Given the description of an element on the screen output the (x, y) to click on. 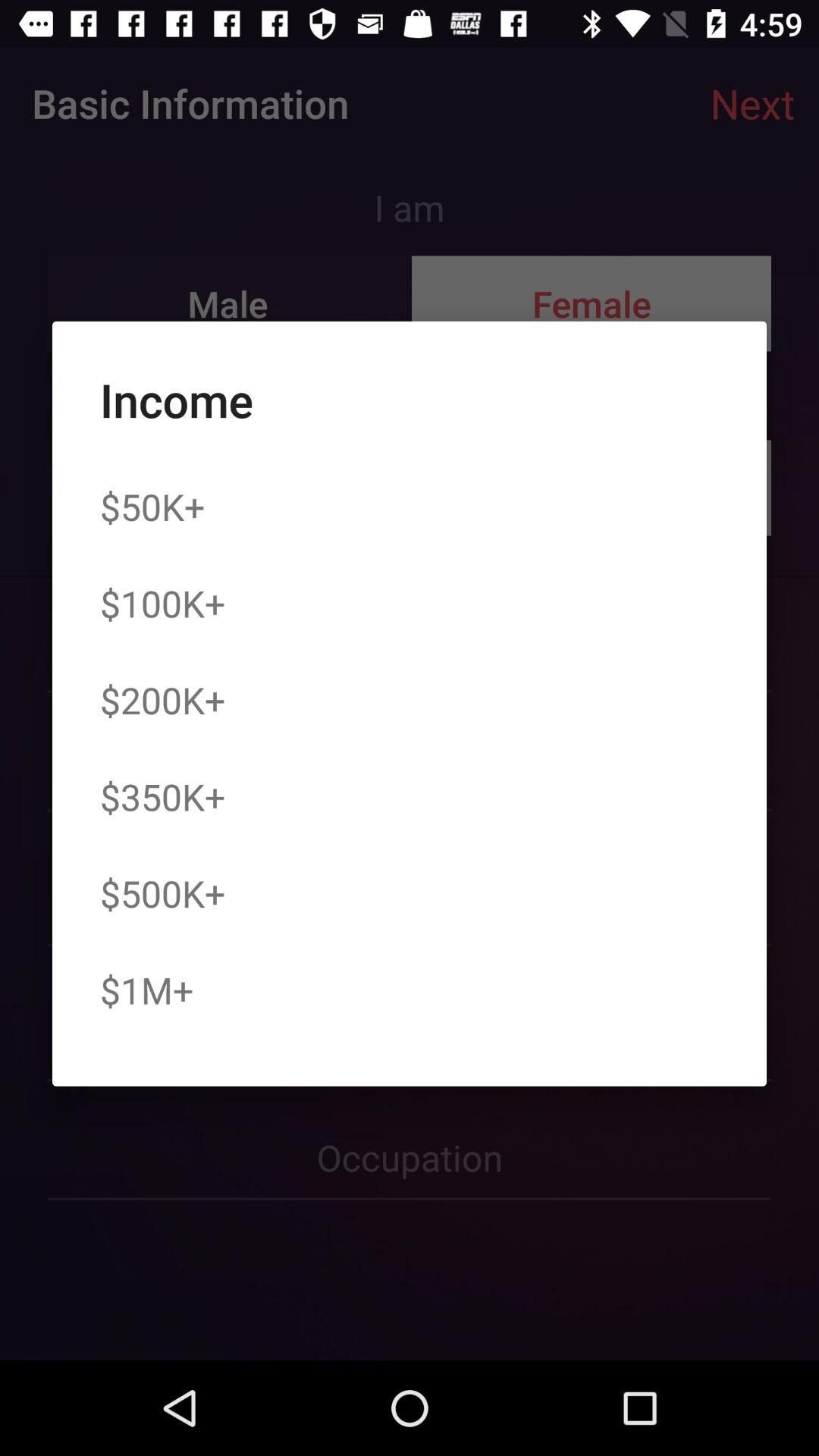
launch item above the $100k+ icon (152, 506)
